Given the description of an element on the screen output the (x, y) to click on. 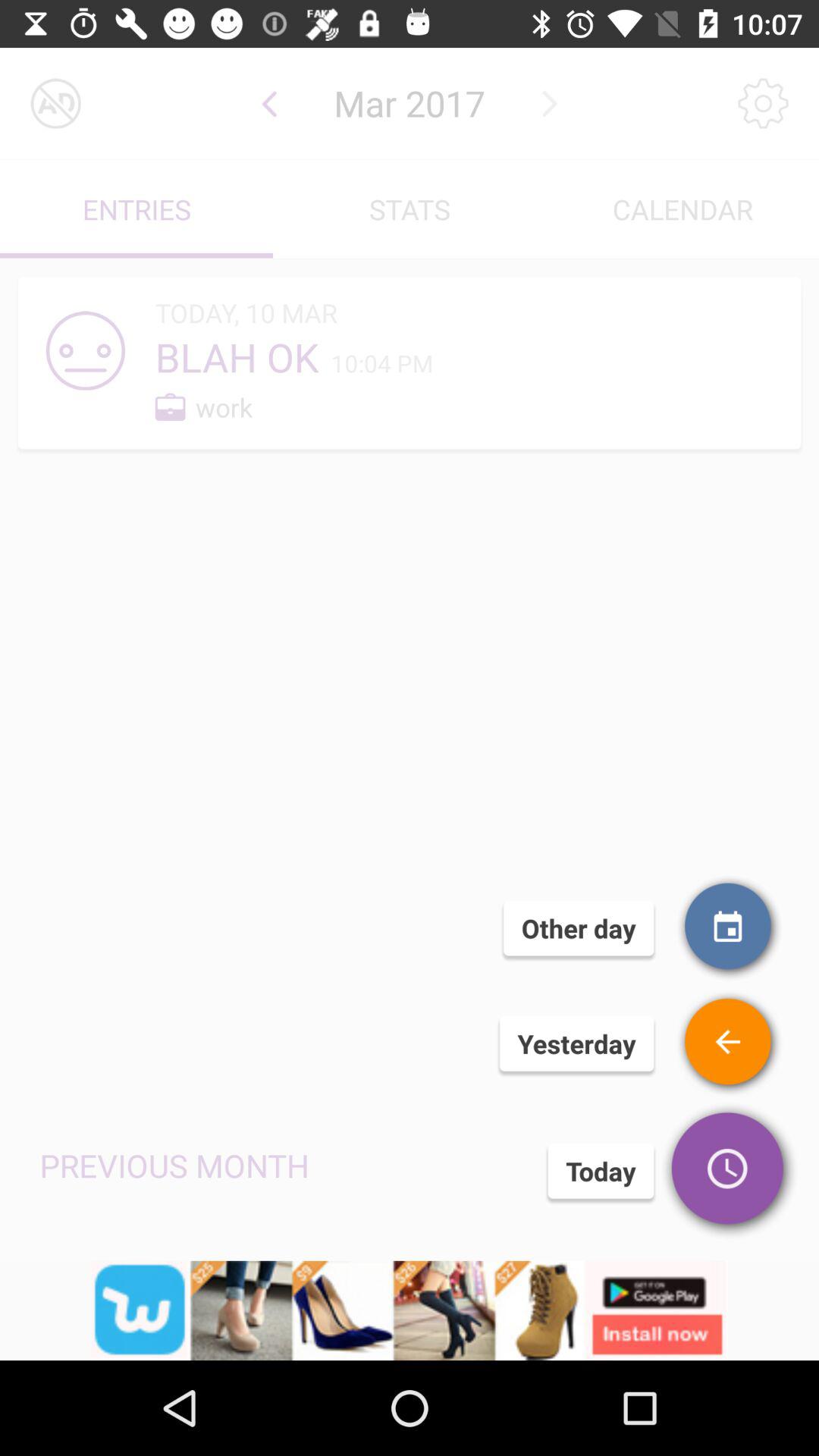
go to previous date (269, 103)
